Given the description of an element on the screen output the (x, y) to click on. 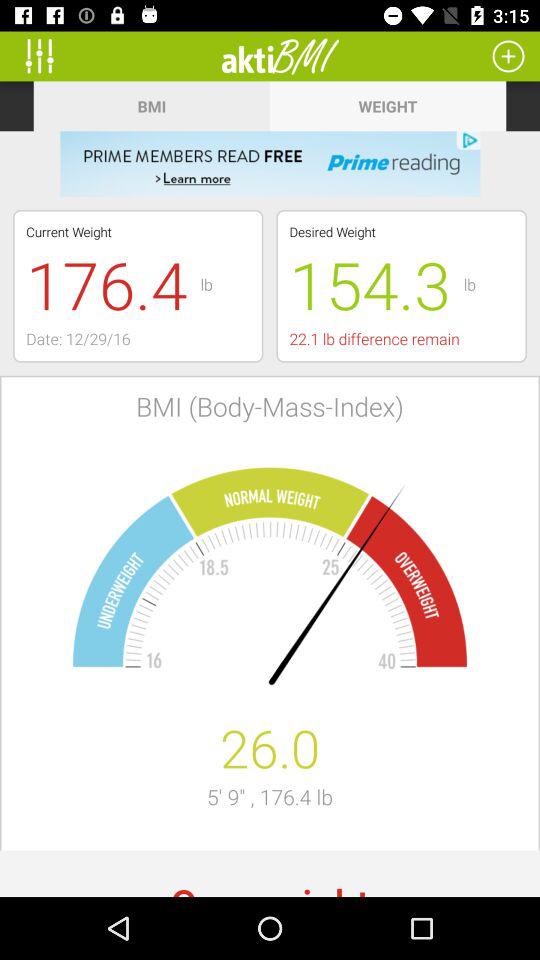
show options (46, 56)
